Given the description of an element on the screen output the (x, y) to click on. 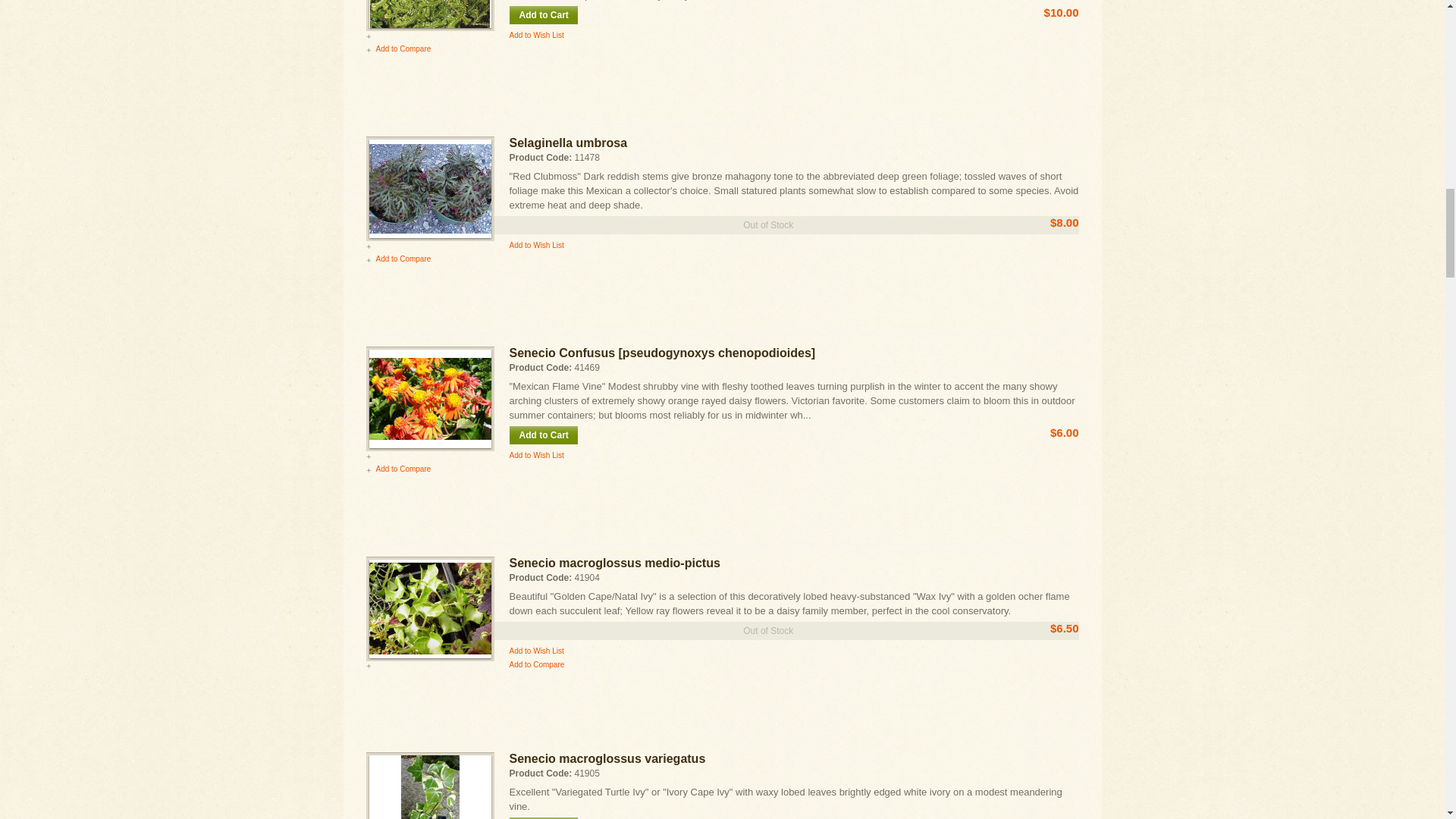
Selaginella umbrosa  (429, 188)
Senecio macroglossus variegatus (429, 787)
Senecio macroglossus medio-pictus (429, 608)
